Given the description of an element on the screen output the (x, y) to click on. 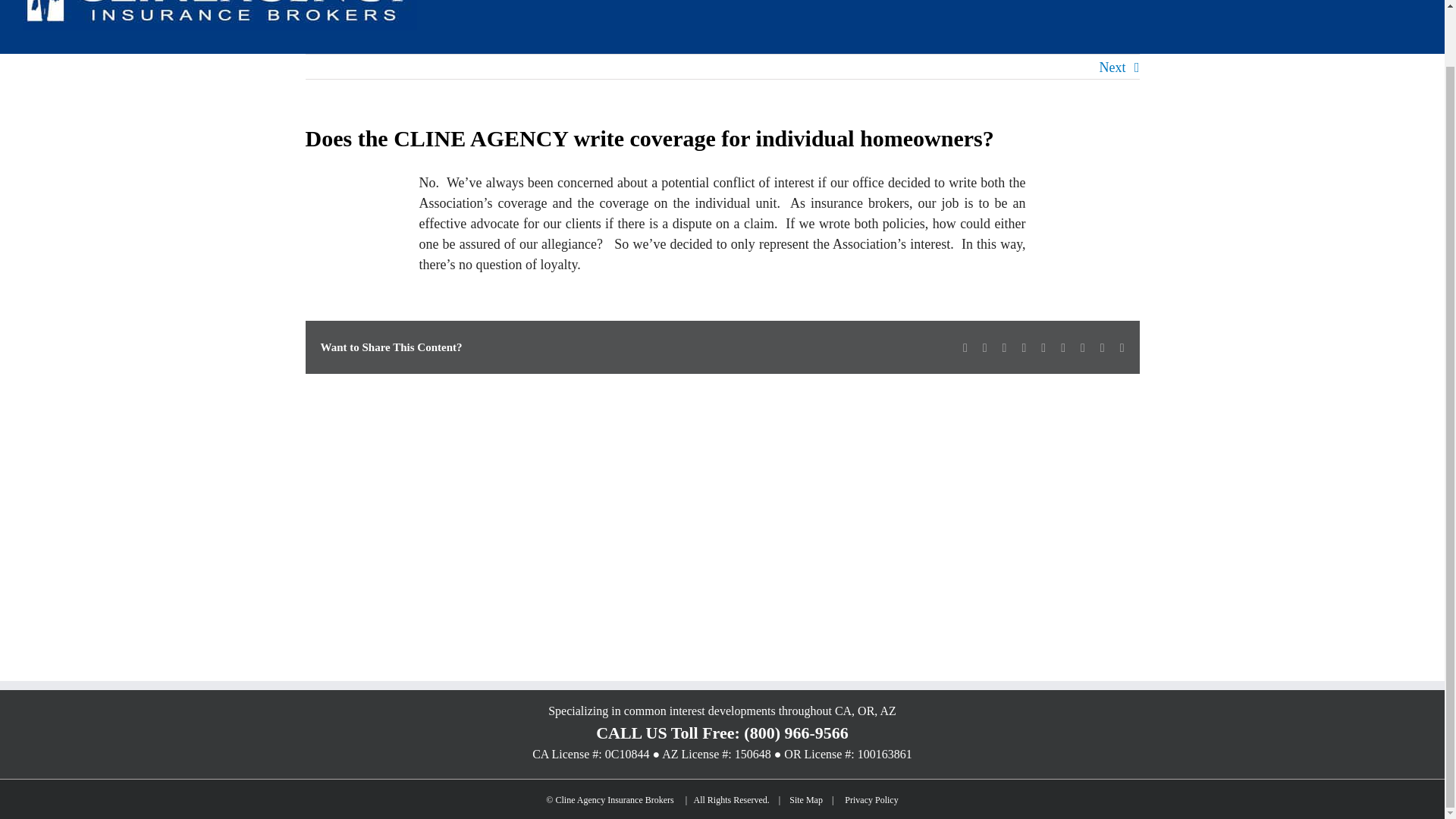
Next (1112, 67)
Email (1121, 347)
LinkedIn (1005, 347)
Reddit (1024, 347)
Pinterest (1082, 347)
Facebook (965, 347)
Site Map (805, 799)
Twitter (984, 347)
Home (790, 1)
Articles (1066, 1)
Tumblr (1063, 347)
Vk (1102, 347)
FAQs (1327, 1)
Videos (1133, 1)
Facebook (965, 347)
